Given the description of an element on the screen output the (x, y) to click on. 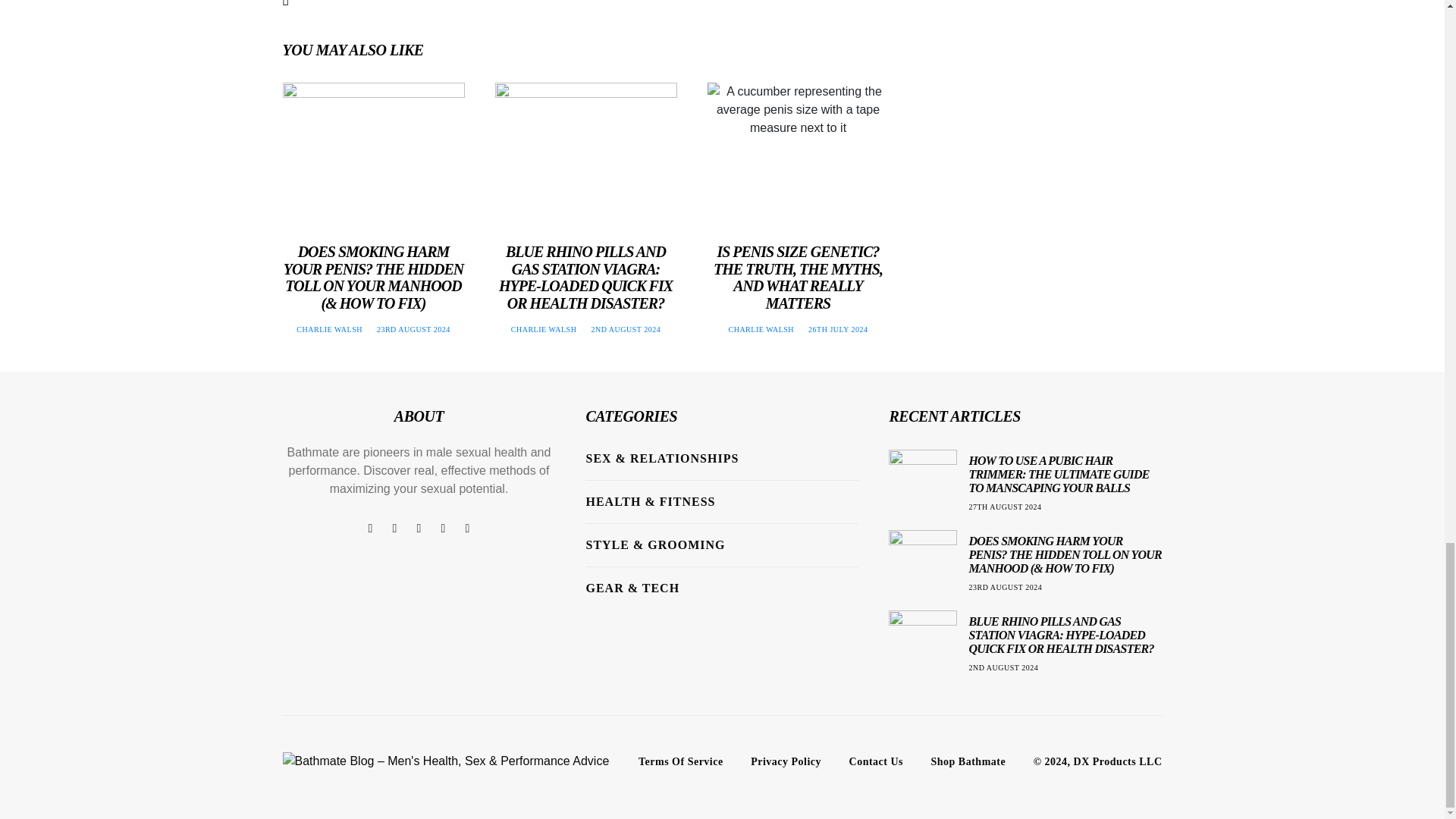
View all posts by Charlie Walsh (760, 329)
View all posts by Charlie Walsh (329, 329)
View all posts by Charlie Walsh (543, 329)
